Given the description of an element on the screen output the (x, y) to click on. 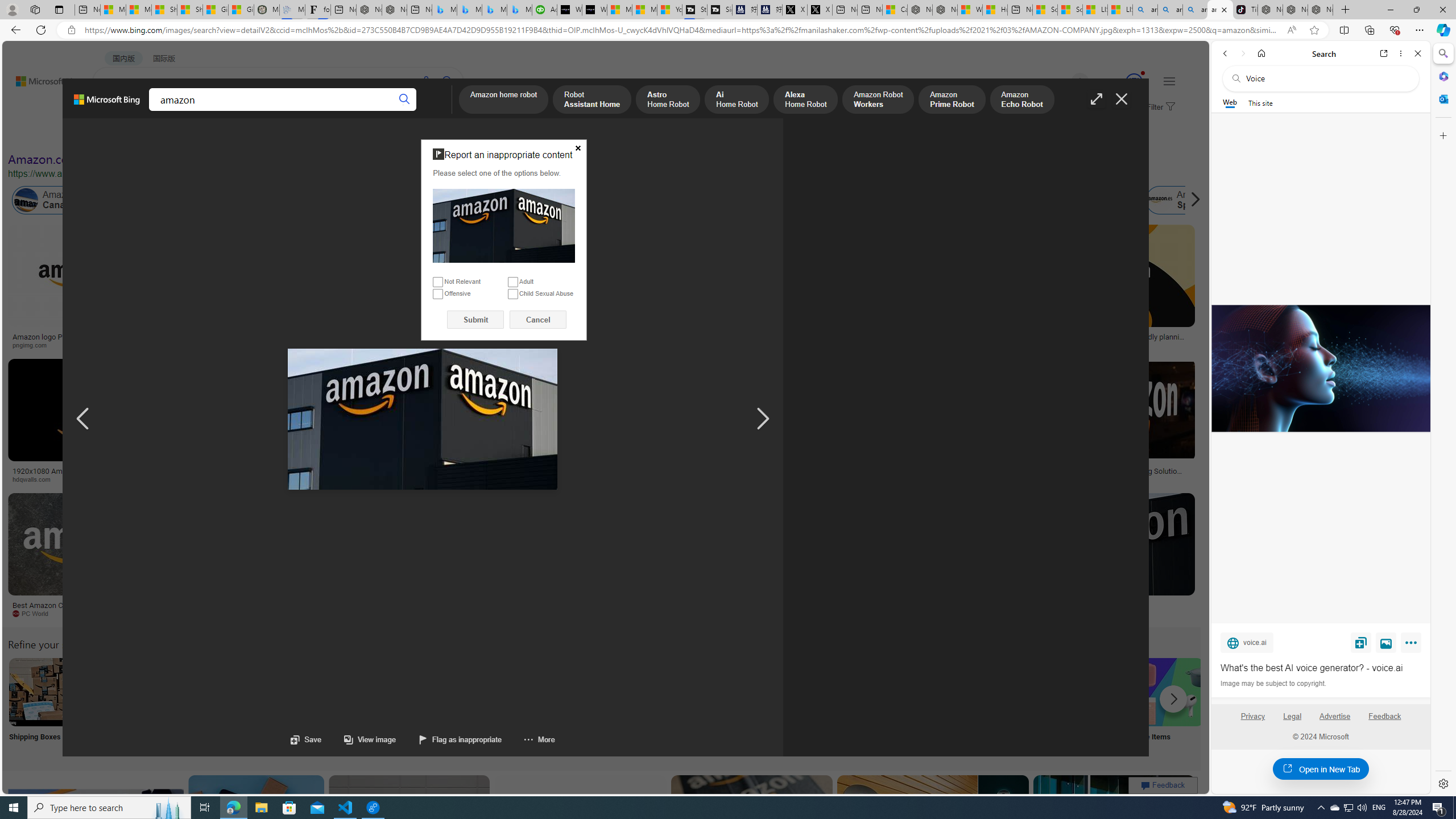
Date (336, 135)
AutomationID: navl (82, 418)
Amazon India (483, 200)
Amazon Online Store (644, 691)
Amazon Log into My Account Log into My Account (268, 706)
Amazon Sign in My Account Sign My Account (718, 706)
TikTok (1244, 9)
Nordace Siena Pro 15 Backpack (1295, 9)
